Given the description of an element on the screen output the (x, y) to click on. 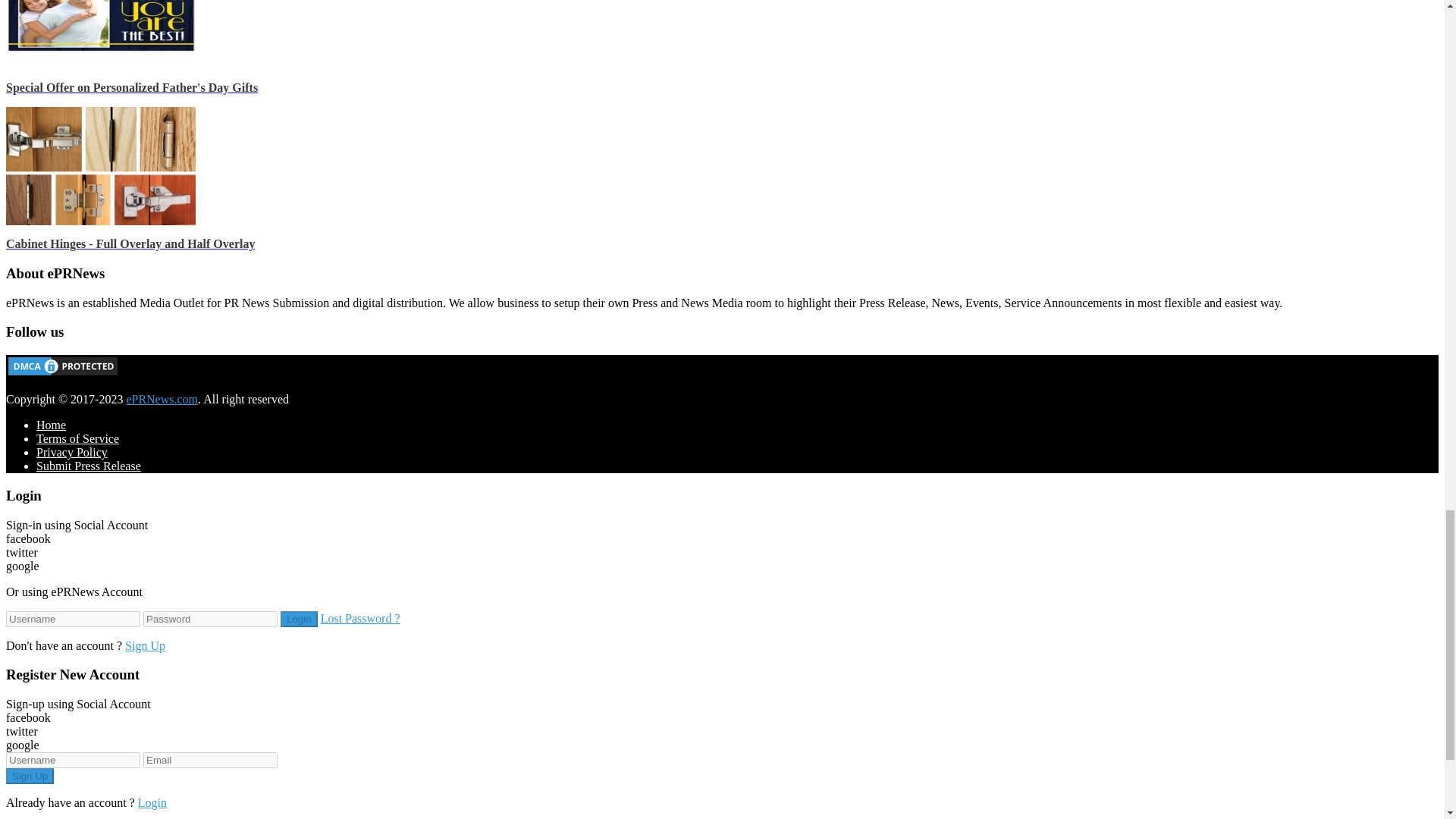
Login (299, 618)
DMCA.com Protection Status (62, 373)
Sign Up (29, 775)
